Given the description of an element on the screen output the (x, y) to click on. 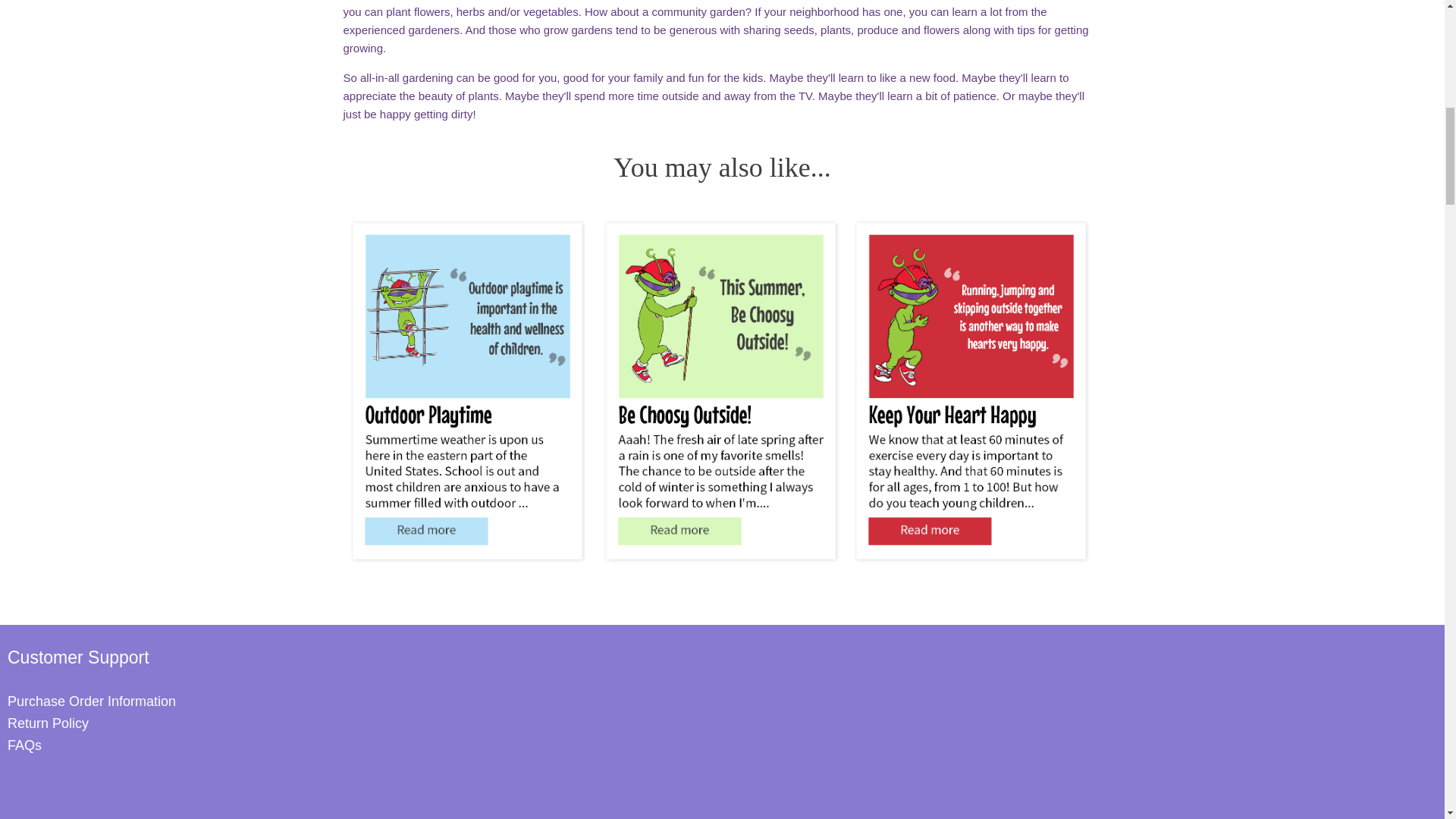
FAQs (26, 745)
This Summer, Be Choosy Outside! (721, 563)
Purchase Order Information (93, 701)
Keep Your Heart Happy (972, 563)
Return Policy (50, 723)
Outdoor Playtime (468, 563)
